Given the description of an element on the screen output the (x, y) to click on. 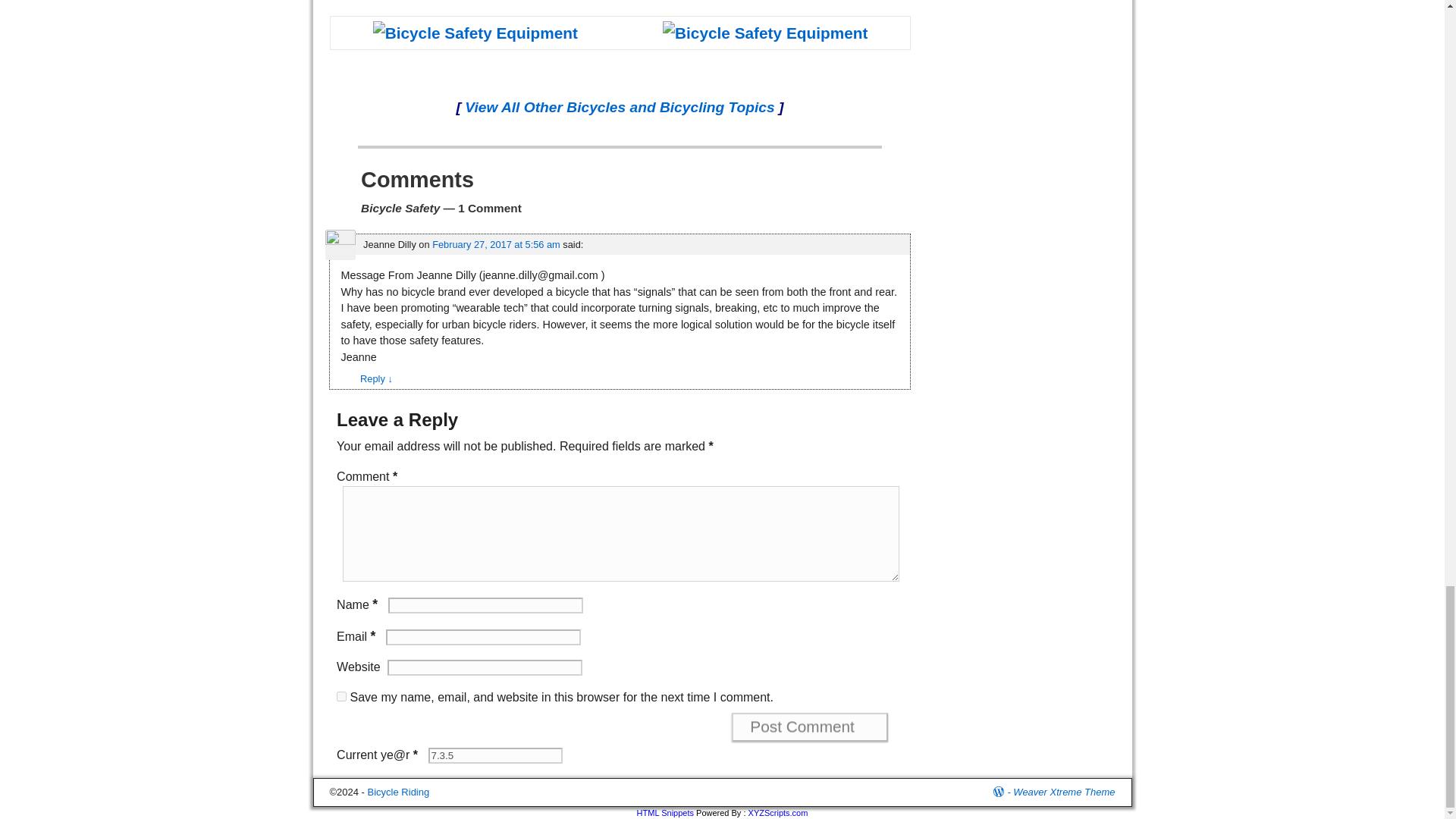
Bicycle Riding (398, 791)
Post Comment (810, 727)
yes (341, 696)
Bicycle Safety Equipment (475, 33)
Weaver Xtreme Theme (1064, 791)
Bicycle Safety Equipment (764, 33)
Proudly powered by WordPress (1002, 791)
7.3.5 (495, 755)
